Given the description of an element on the screen output the (x, y) to click on. 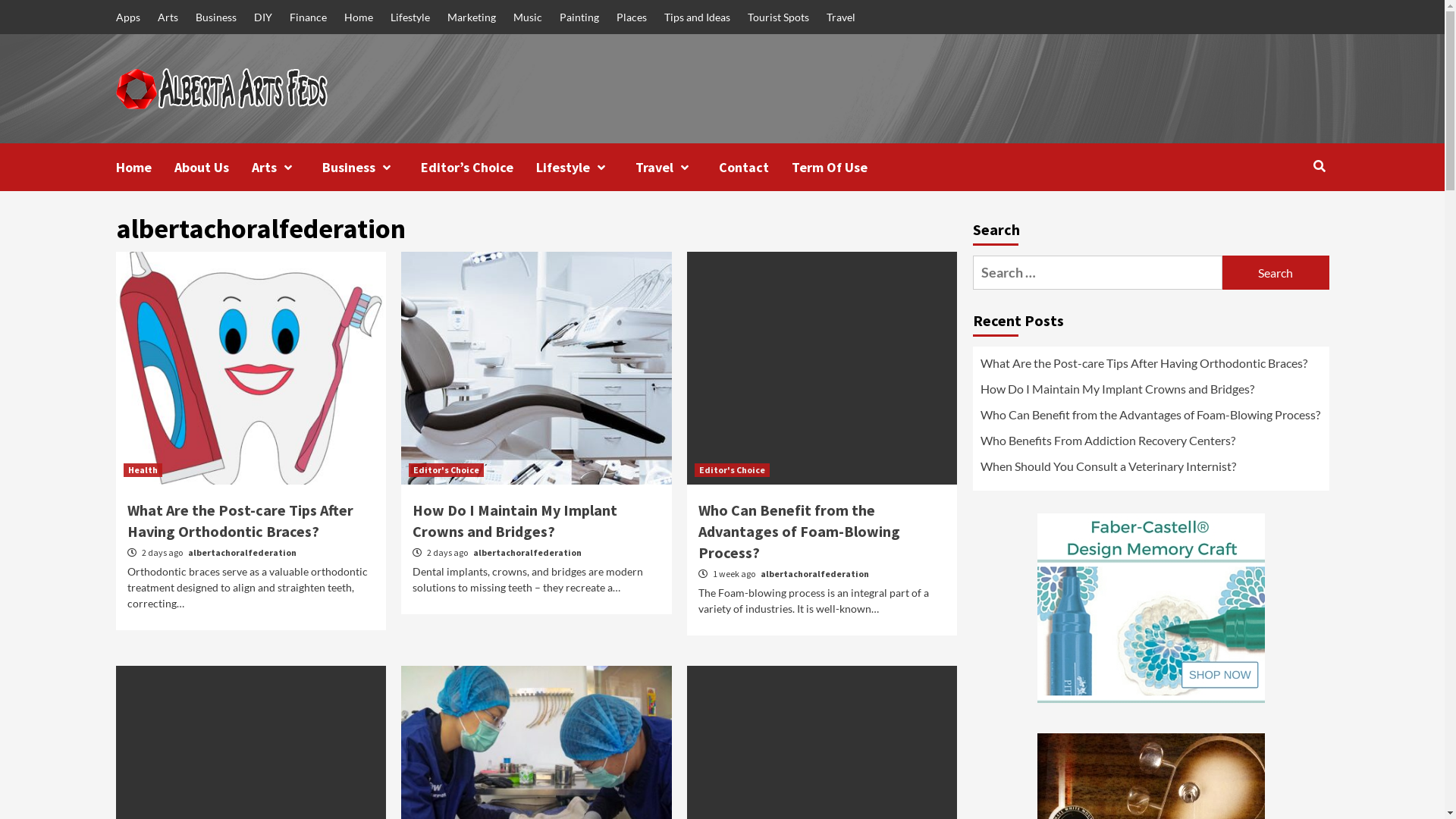
Who Can Benefit from the Advantages of Foam-Blowing Process? Element type: text (799, 530)
Finance Element type: text (308, 17)
Travel Element type: text (676, 167)
Search Element type: text (1283, 214)
Arts Element type: text (167, 17)
Business Element type: text (216, 17)
Who Can Benefit from the Advantages of Foam-Blowing Process? Element type: text (1150, 418)
Arts Element type: text (286, 167)
Travel Element type: text (840, 17)
albertachoralfederation Element type: text (814, 573)
Health Element type: text (141, 469)
Home Element type: text (358, 17)
Home Element type: text (144, 167)
Places Element type: text (630, 17)
Business Element type: text (370, 167)
What Are the Post-care Tips After Having Orthodontic Braces? Element type: text (240, 520)
Music Element type: text (527, 17)
Who Benefits From Addiction Recovery Centers? Element type: text (1150, 444)
What Are the Post-care Tips After Having Orthodontic Braces? Element type: text (1150, 366)
Search Element type: hover (1319, 165)
Lifestyle Element type: text (409, 17)
How Do I Maintain My Implant Crowns and Bridges? Element type: text (1150, 392)
Term Of Use Element type: text (840, 167)
Tourist Spots Element type: text (778, 17)
Editor's Choice Element type: text (731, 469)
How Do I Maintain My Implant Crowns and Bridges? Element type: text (514, 520)
Lifestyle Element type: text (584, 167)
Apps Element type: text (131, 17)
Painting Element type: text (579, 17)
About Us Element type: text (212, 167)
Tips and Ideas Element type: text (696, 17)
Search Element type: text (1275, 272)
When Should You Consult a Veterinary Internist? Element type: text (1150, 470)
albertachoralfederation Element type: text (242, 552)
DIY Element type: text (262, 17)
albertachoralfederation Element type: text (527, 552)
Marketing Element type: text (471, 17)
Editor's Choice Element type: text (445, 469)
Contact Element type: text (754, 167)
